Given the description of an element on the screen output the (x, y) to click on. 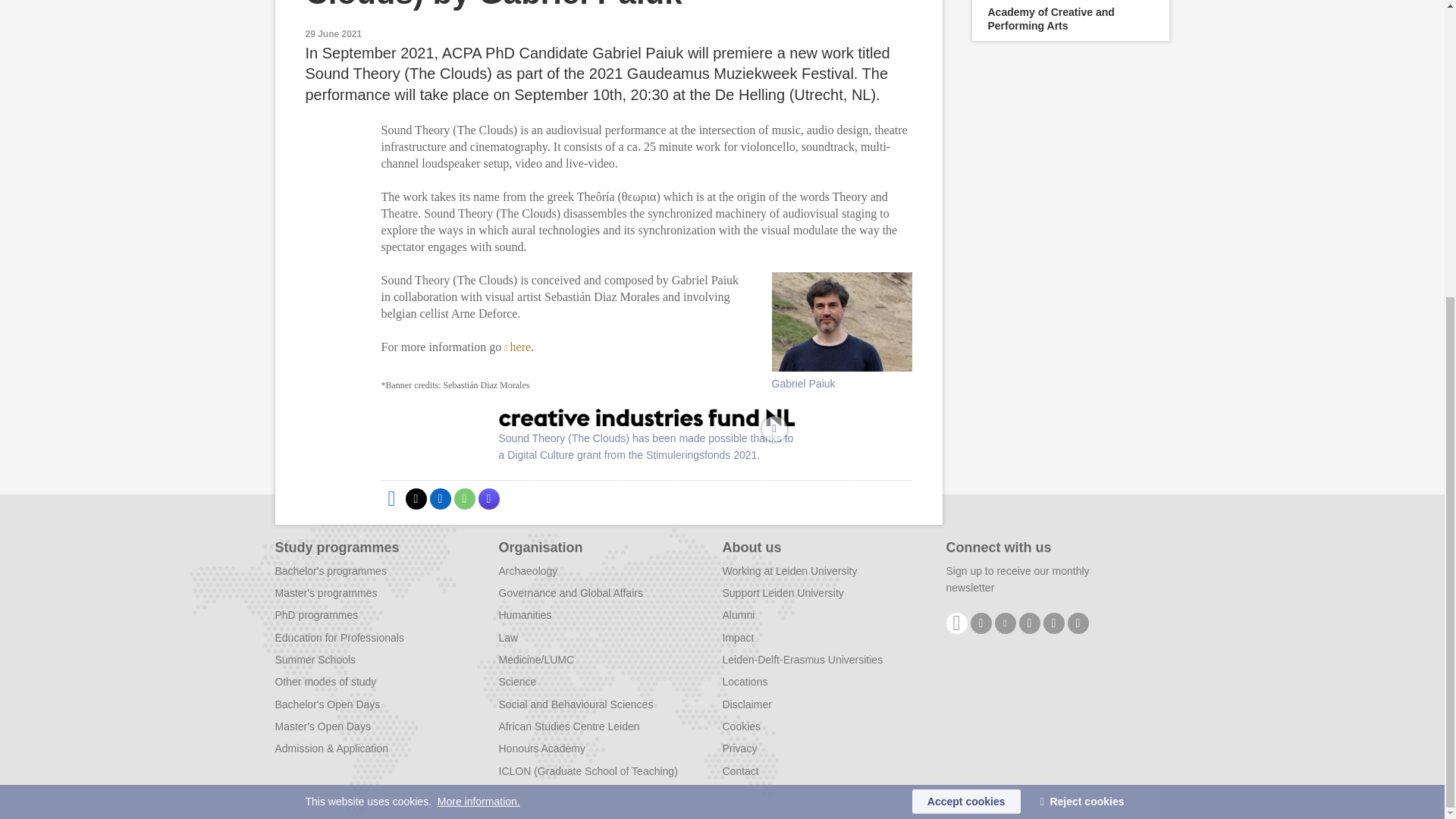
Share on LinkedIn (439, 498)
here (517, 346)
Share by Mastodon (488, 498)
Share on X (415, 498)
0 (773, 428)
Share by WhatsApp (463, 498)
Share on Facebook (390, 498)
